Given the description of an element on the screen output the (x, y) to click on. 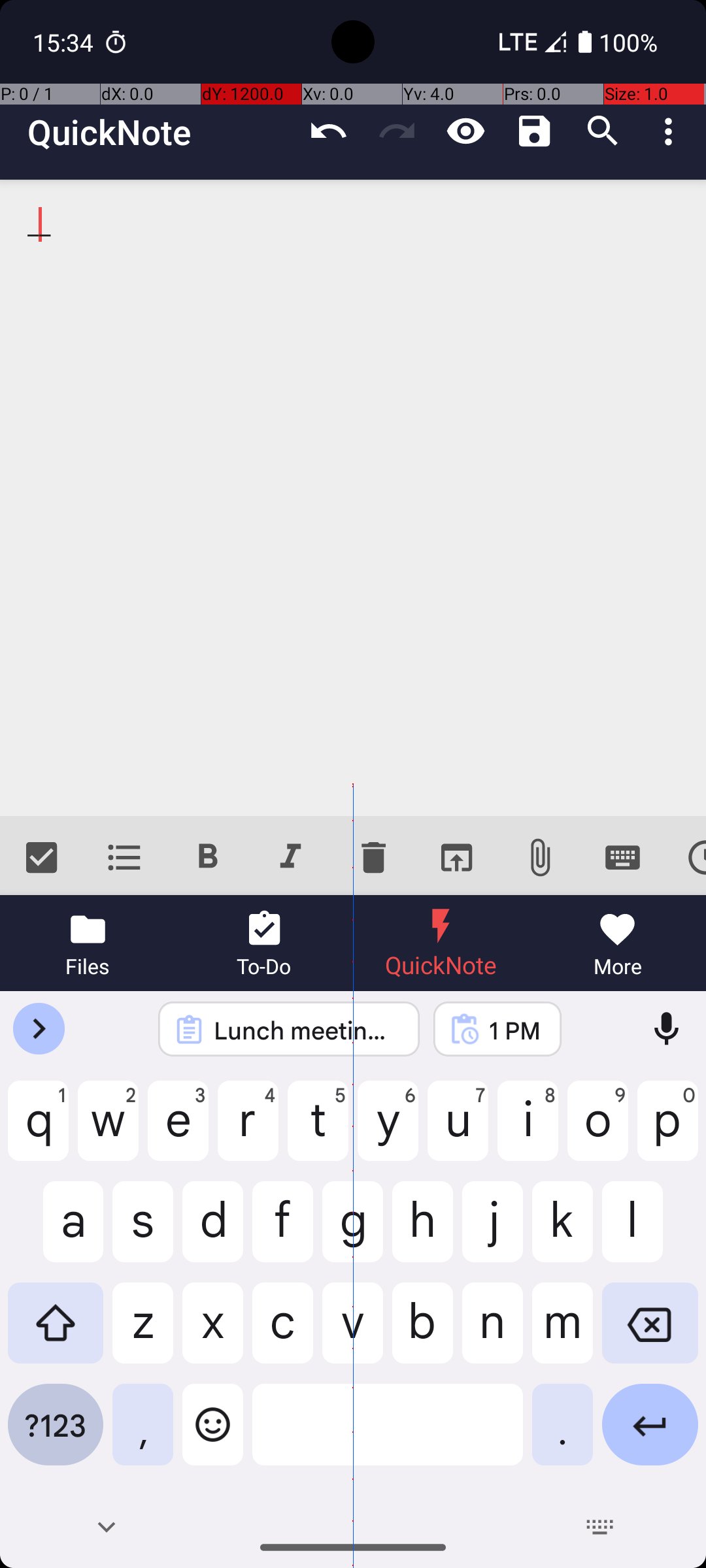
__ Element type: android.widget.EditText (353, 497)
Lunch meeting with Sarah at 1 PM Cafe L'amour. Element type: android.widget.TextView (305, 1029)
1 PM Element type: android.widget.TextView (514, 1029)
